Given the description of an element on the screen output the (x, y) to click on. 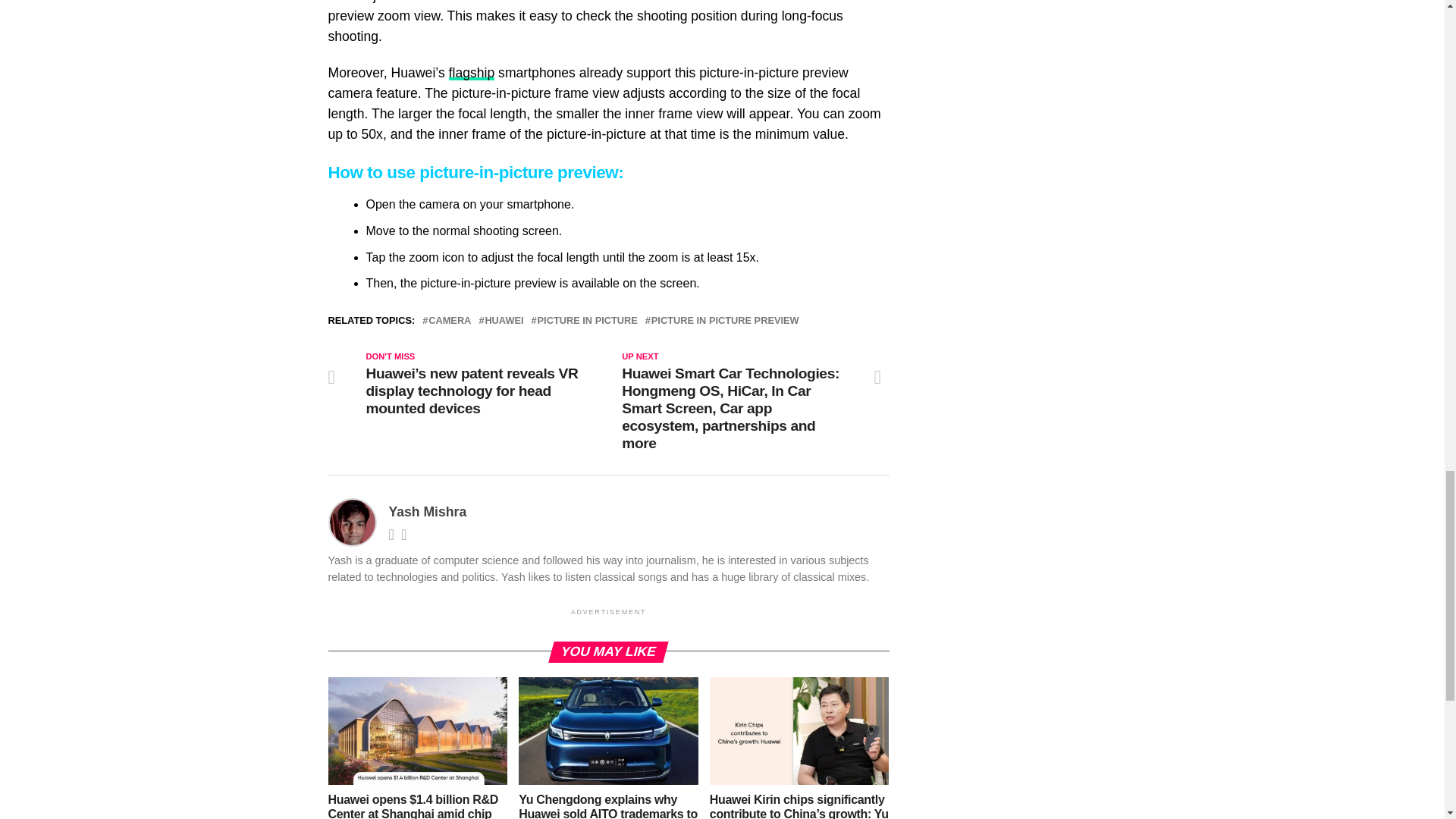
Posts by Yash Mishra (426, 511)
